Given the description of an element on the screen output the (x, y) to click on. 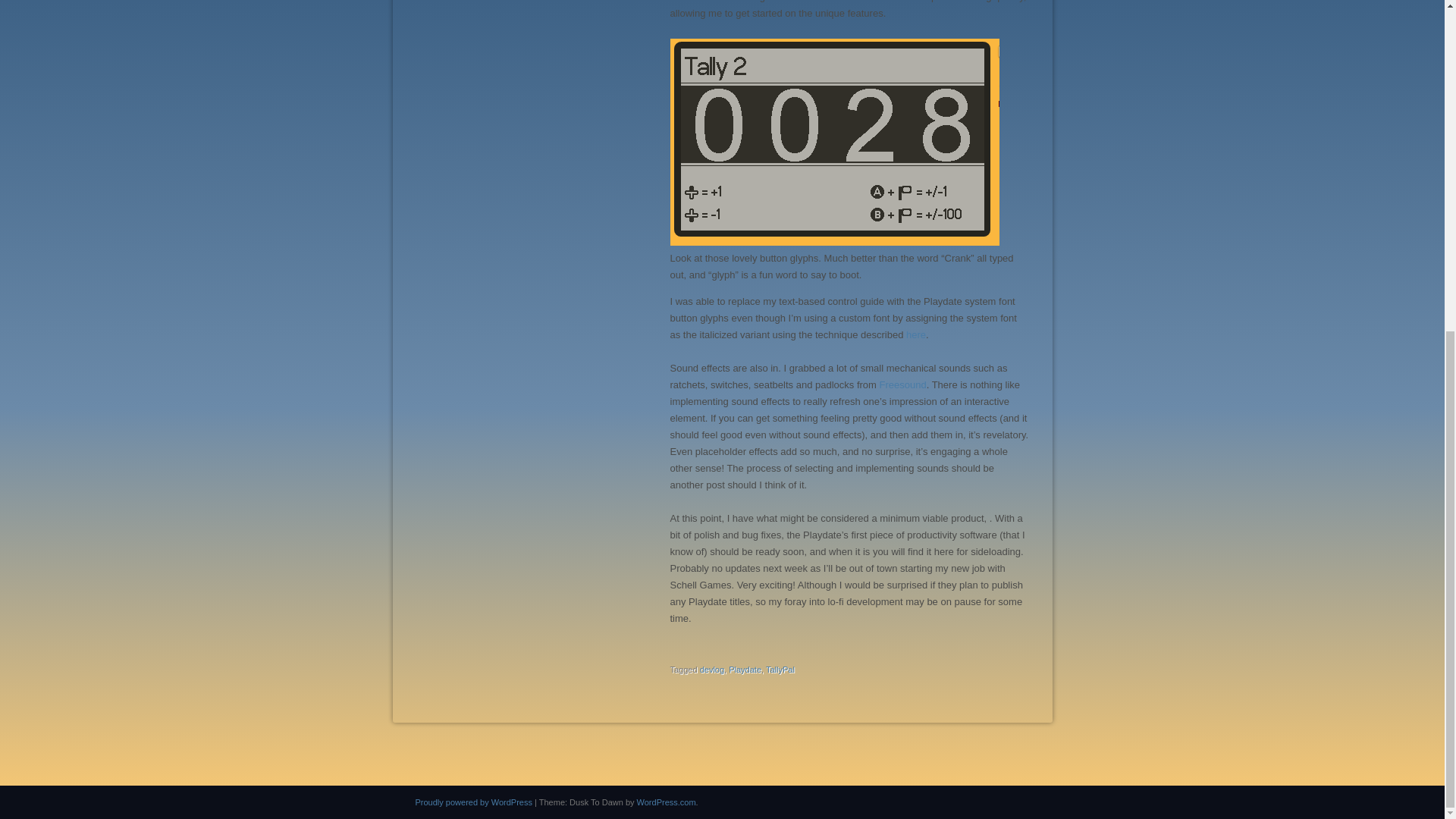
devlog (711, 669)
Playdate (745, 669)
TallyPal (779, 669)
Proudly powered by WordPress (473, 801)
WordPress.com (666, 801)
here (915, 334)
A Semantic Personal Publishing Platform (473, 801)
Freesound (902, 384)
